Given the description of an element on the screen output the (x, y) to click on. 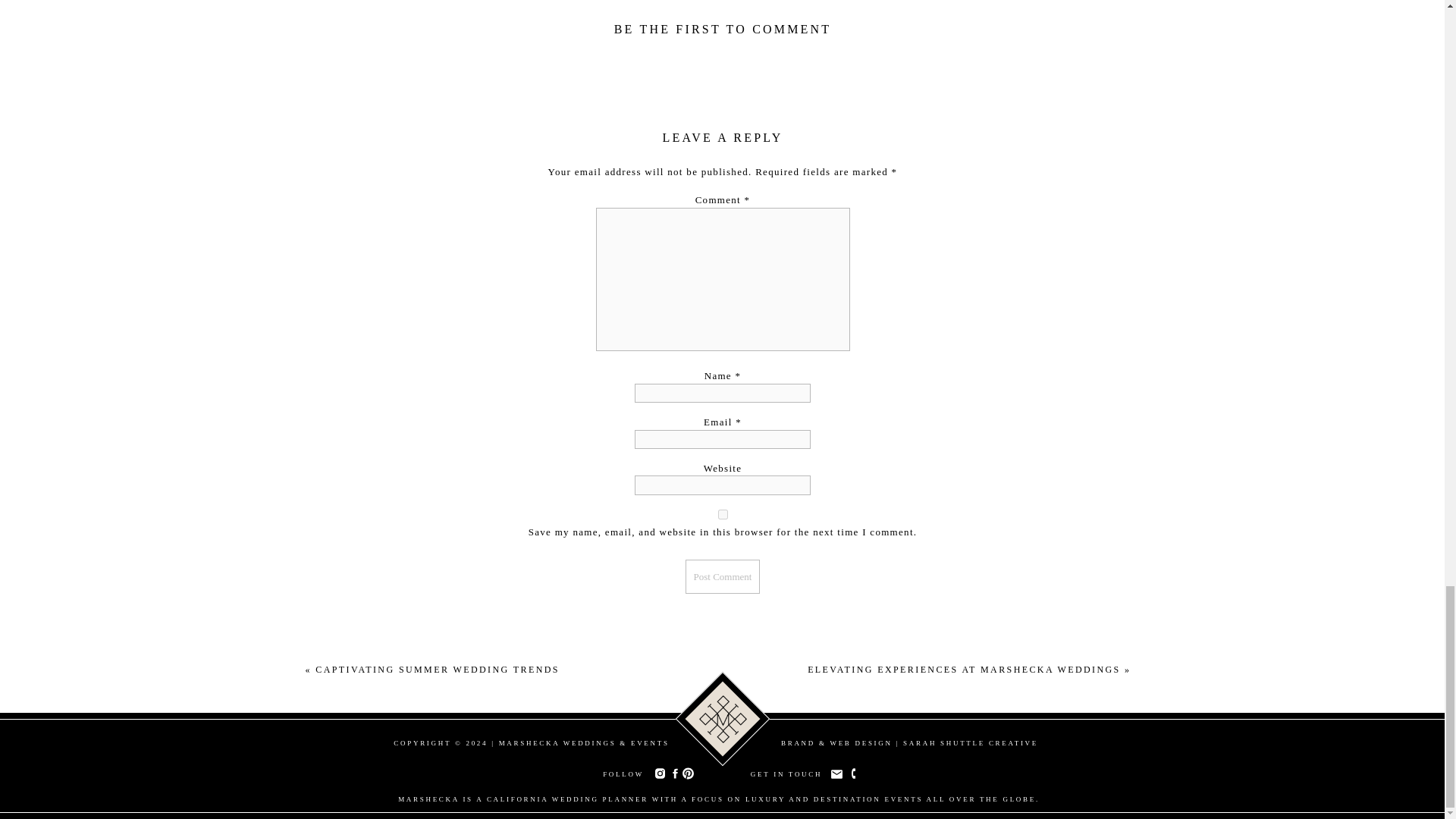
ELEVATING EXPERIENCES AT MARSHECKA WEDDINGS (964, 669)
BE THE FIRST TO COMMENT (722, 29)
CAPTIVATING SUMMER WEDDING TRENDS (437, 669)
Post Comment (722, 576)
SARAH SHUTTLE CREATIVE (970, 742)
yes (722, 514)
Post Comment (722, 576)
